Given the description of an element on the screen output the (x, y) to click on. 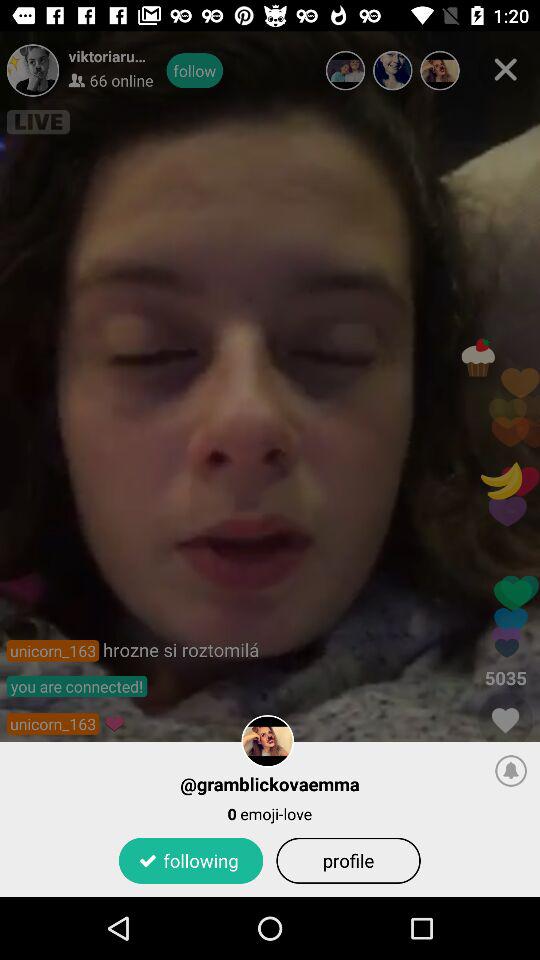
jump until the profile item (348, 860)
